Given the description of an element on the screen output the (x, y) to click on. 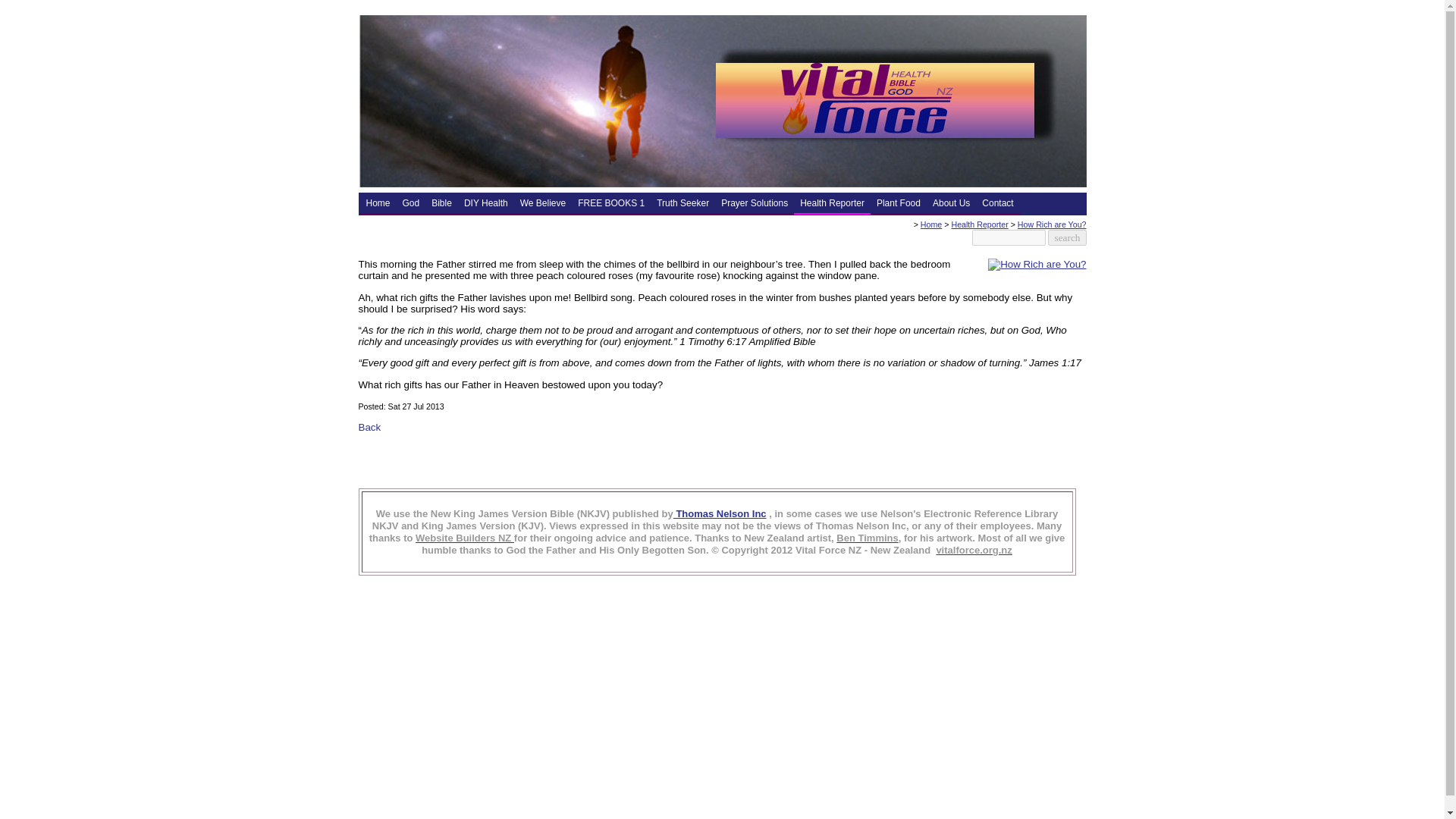
God (411, 204)
We Believe (542, 204)
Home (377, 204)
How Rich are You? (1037, 264)
Truth Seeker (682, 204)
DIY Health (485, 204)
FREE BOOKS 1 (611, 204)
Bible (441, 204)
